Given the description of an element on the screen output the (x, y) to click on. 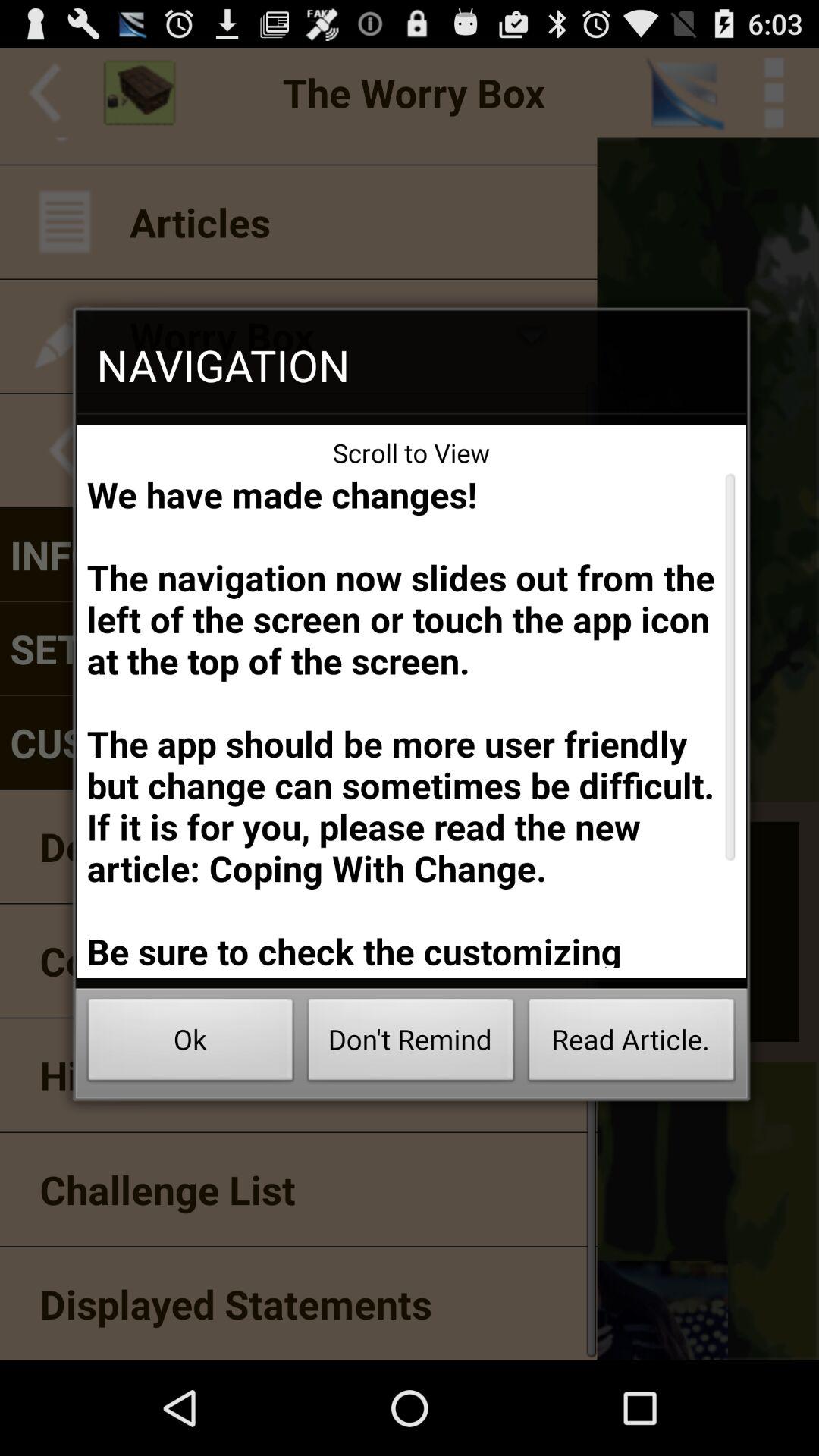
select icon next to read article. icon (410, 1044)
